Given the description of an element on the screen output the (x, y) to click on. 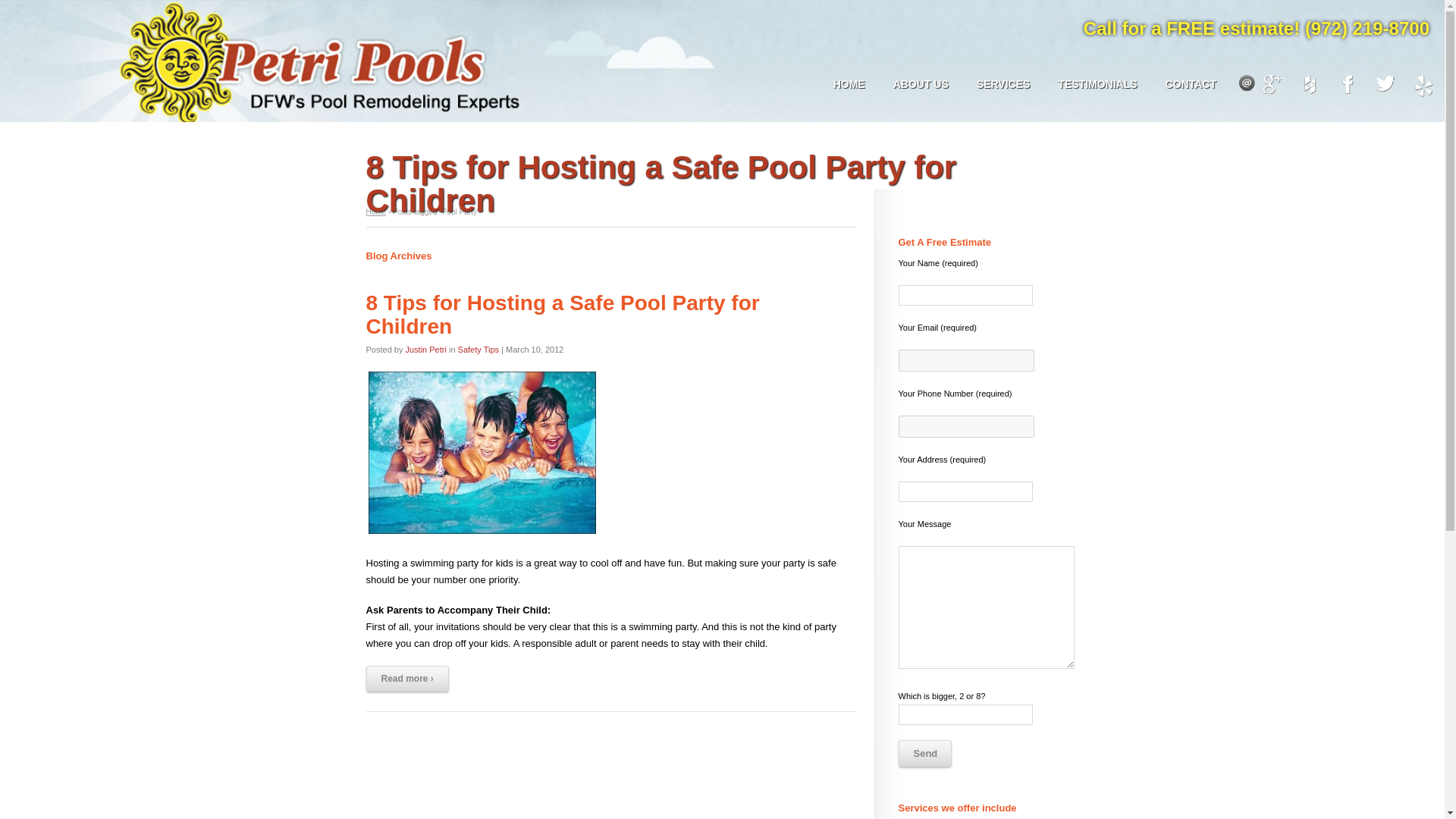
Safety Tips (478, 348)
kids-at-pool (480, 452)
HOME (849, 84)
Send (924, 753)
8 Tips for Hosting a Safe Pool Party for Children (561, 314)
Home (375, 212)
Send (924, 753)
CONTACT (1190, 84)
SERVICES (1002, 84)
ABOUT US (920, 84)
